Given the description of an element on the screen output the (x, y) to click on. 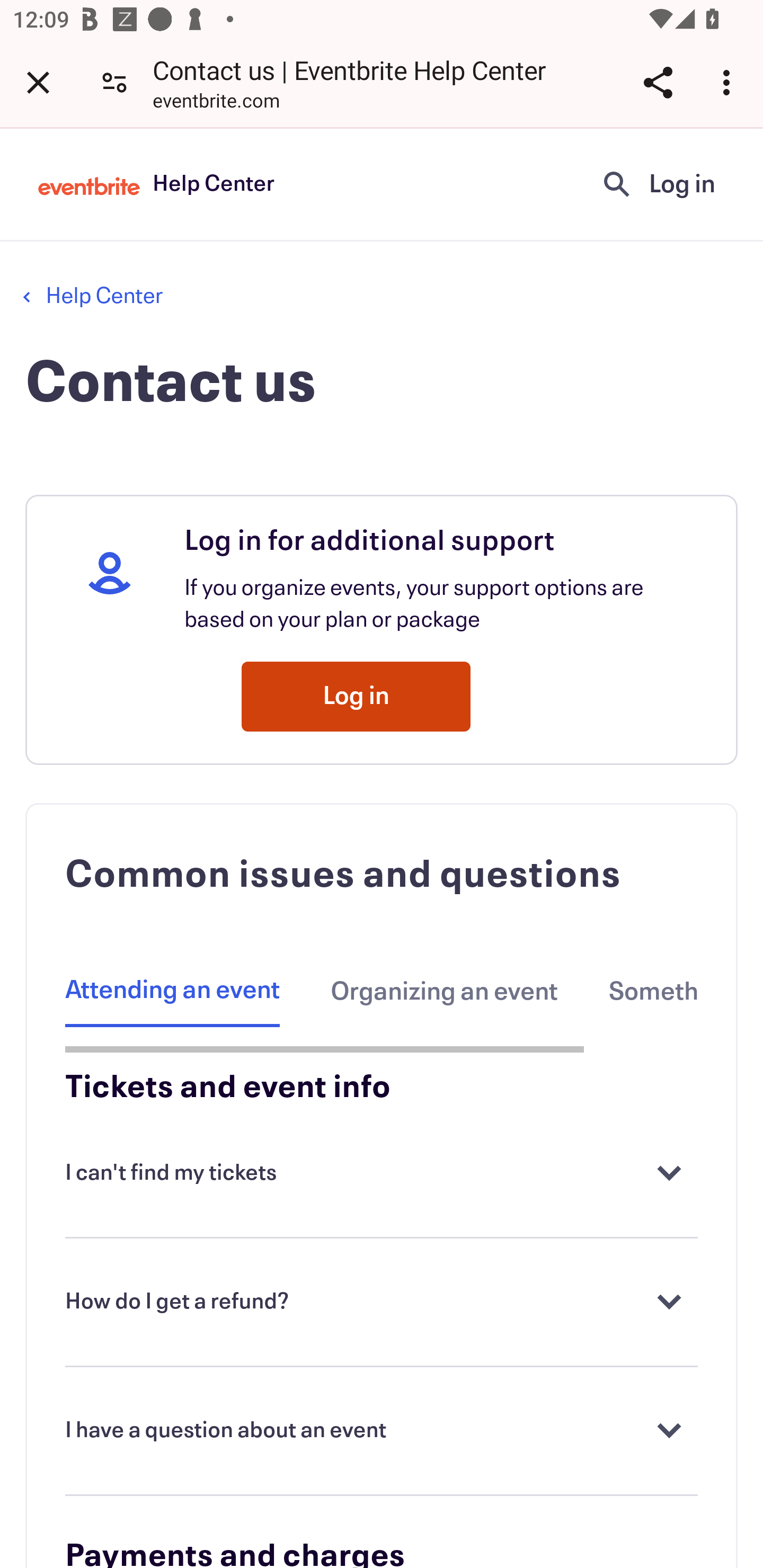
Back (57, 94)
Share (705, 94)
